Given the description of an element on the screen output the (x, y) to click on. 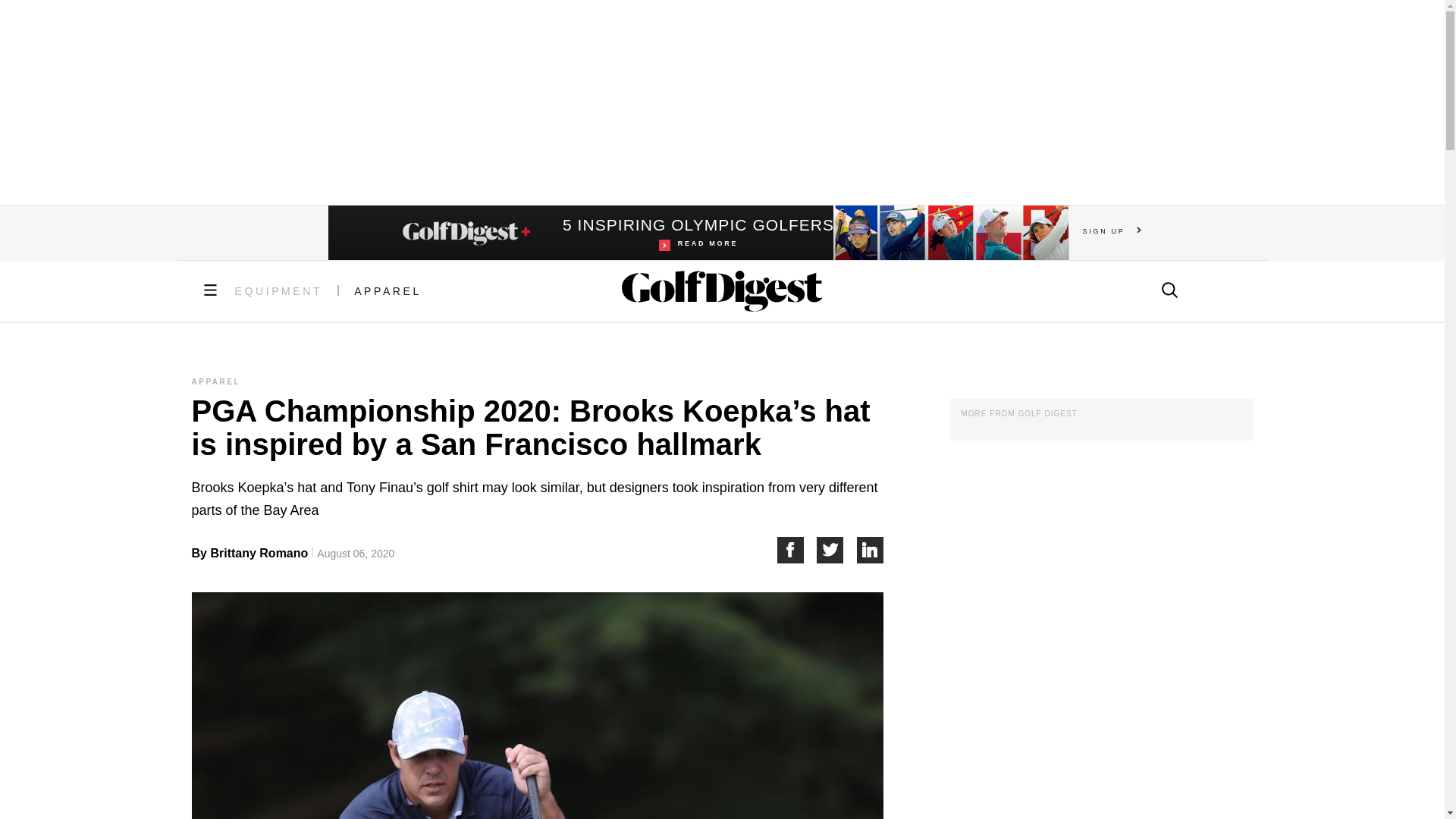
Share on LinkedIn (870, 550)
Share on Twitter (697, 232)
SIGN UP (836, 550)
Share on Facebook (1112, 230)
APPAREL (796, 550)
EQUIPMENT (387, 291)
